Given the description of an element on the screen output the (x, y) to click on. 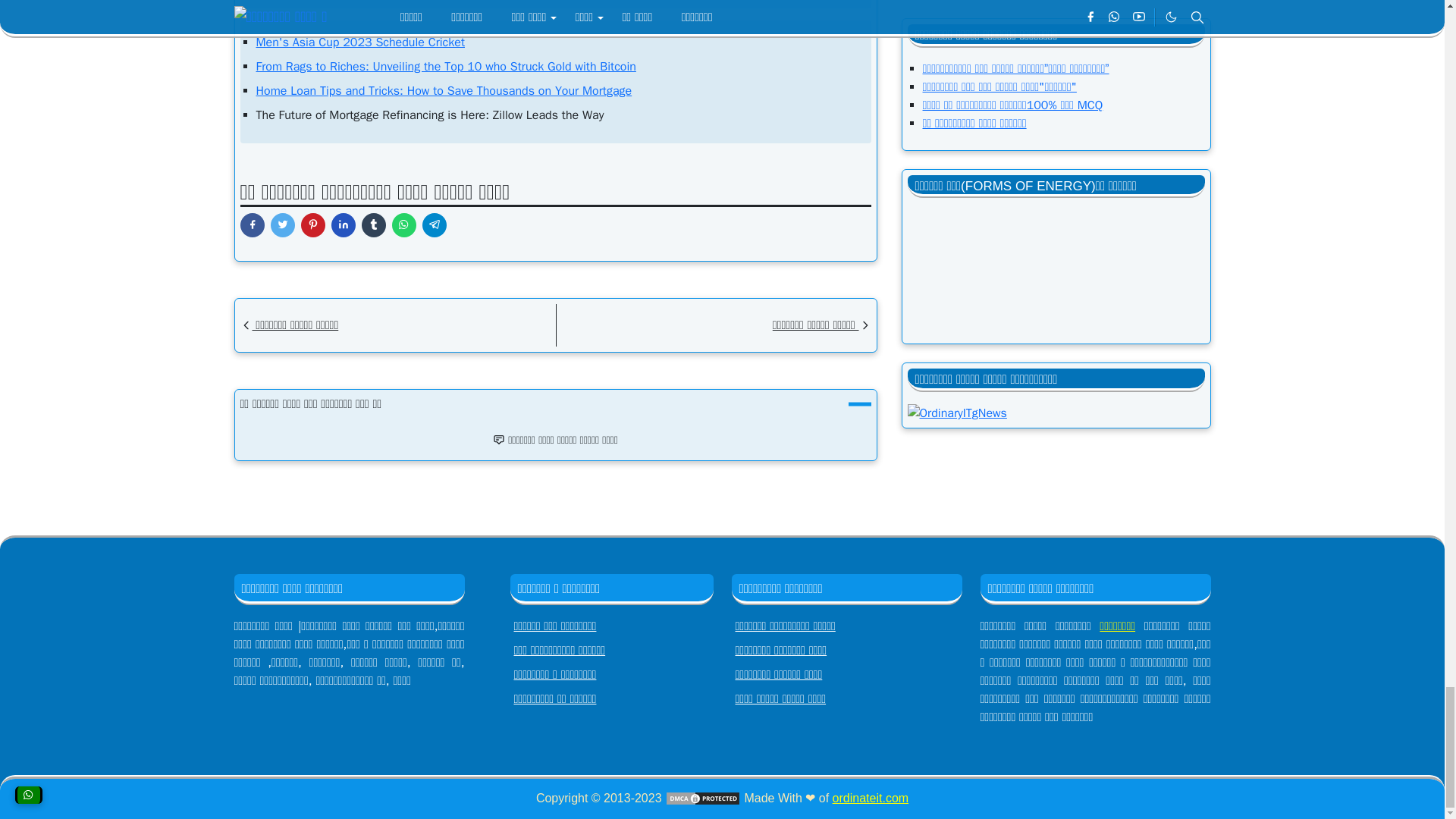
Share to telegram (433, 224)
Pin It (311, 224)
Content Protected by DMCA (703, 797)
Linkedin Share (342, 224)
Tumblr Share (373, 224)
Tweet This (281, 224)
Facebook Share (251, 224)
Share to whatsapp (402, 224)
